Given the description of an element on the screen output the (x, y) to click on. 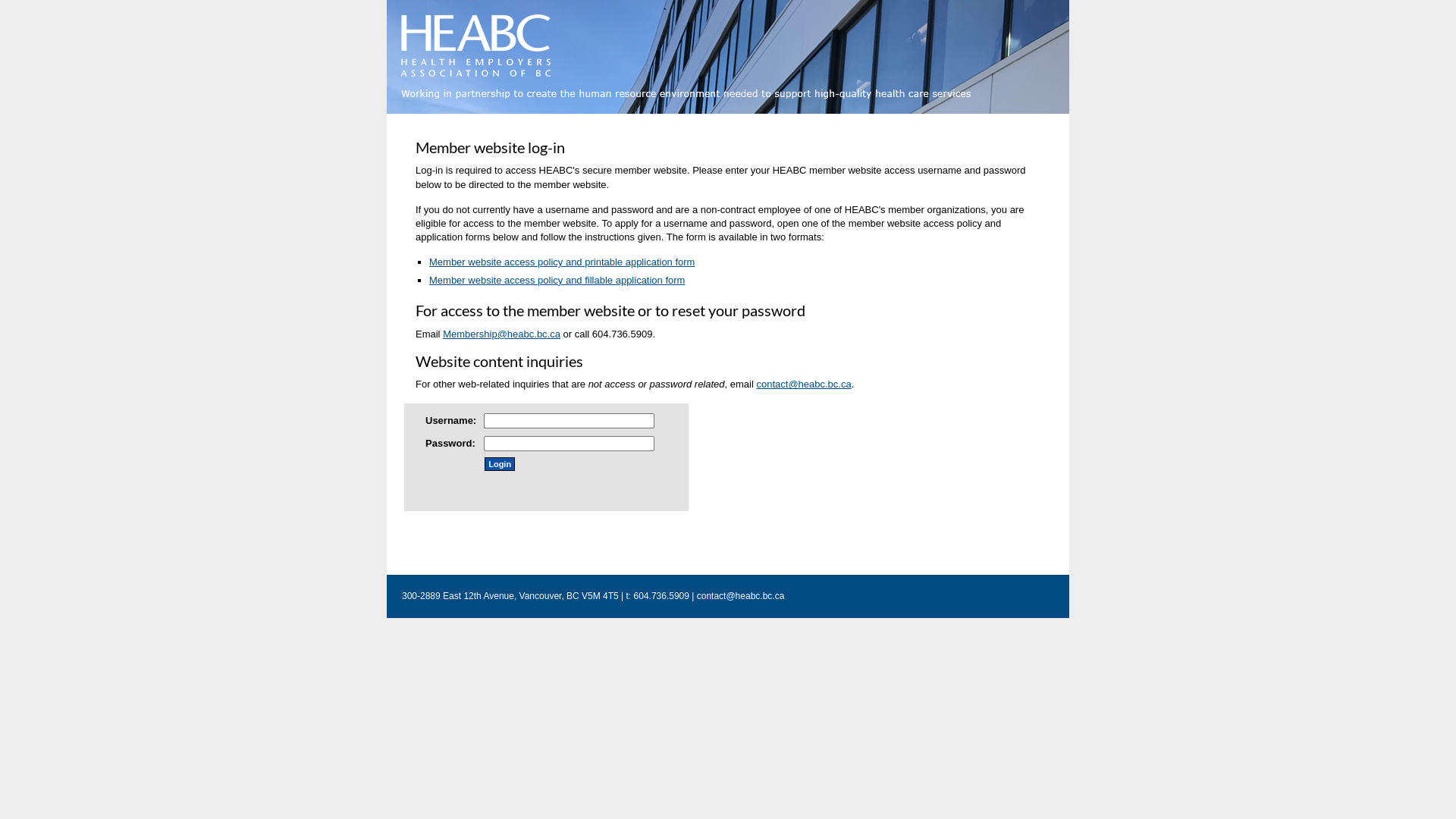
Membership@heabc.bc.ca Element type: text (501, 333)
contact@heabc.bc.ca Element type: text (740, 595)
Login Element type: text (499, 463)
Member website access policy and fillable application form Element type: text (556, 279)
contact@heabc.bc.ca Element type: text (803, 383)
Member website access policy and printable application form Element type: text (730, 262)
